Given the description of an element on the screen output the (x, y) to click on. 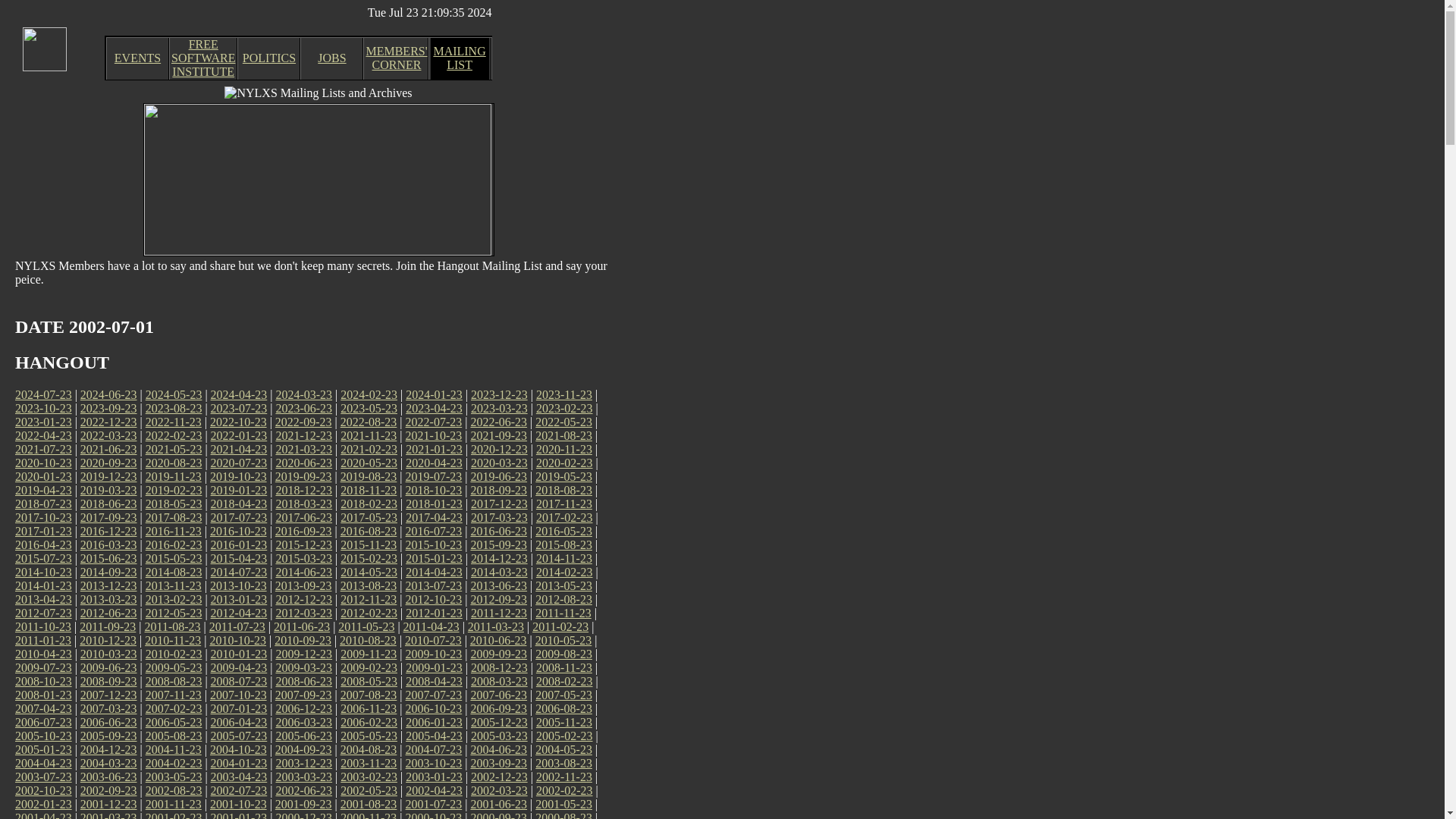
2022-12-23 (108, 421)
2023-04-23 (434, 408)
2023-01-23 (42, 421)
2022-03-23 (108, 435)
EVENTS (137, 57)
2024-04-23 (239, 394)
2022-08-23 (368, 421)
2024-06-23 (108, 394)
2024-02-23 (368, 394)
2023-06-23 (303, 408)
2024-01-23 (434, 394)
2022-10-23 (237, 421)
2023-10-23 (42, 408)
JOBS (331, 57)
2023-07-23 (239, 408)
